Given the description of an element on the screen output the (x, y) to click on. 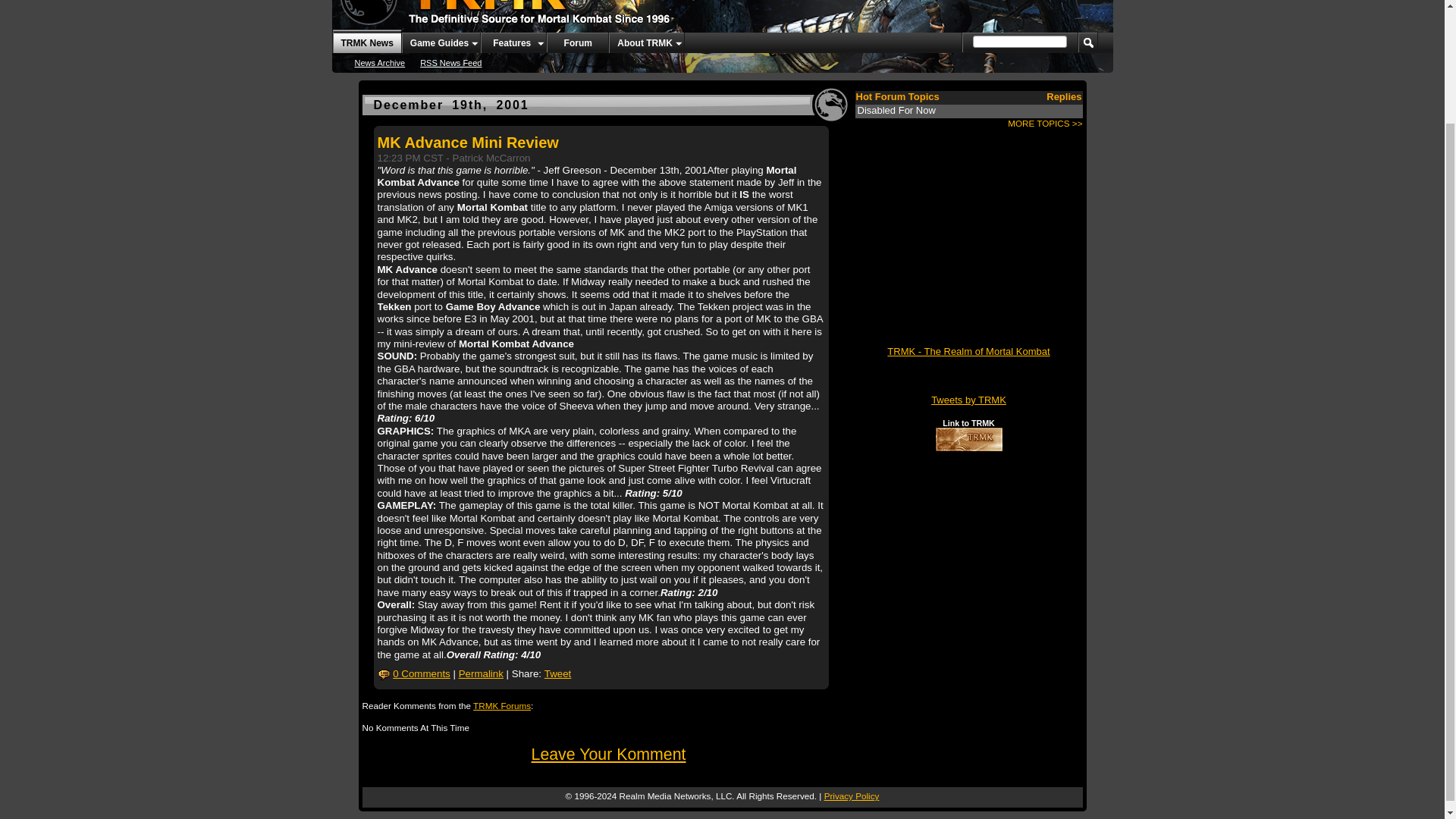
Features (513, 42)
Game Guides (440, 42)
RSS News Feed (450, 62)
TRMK News (365, 41)
News Archive (380, 62)
